Given the description of an element on the screen output the (x, y) to click on. 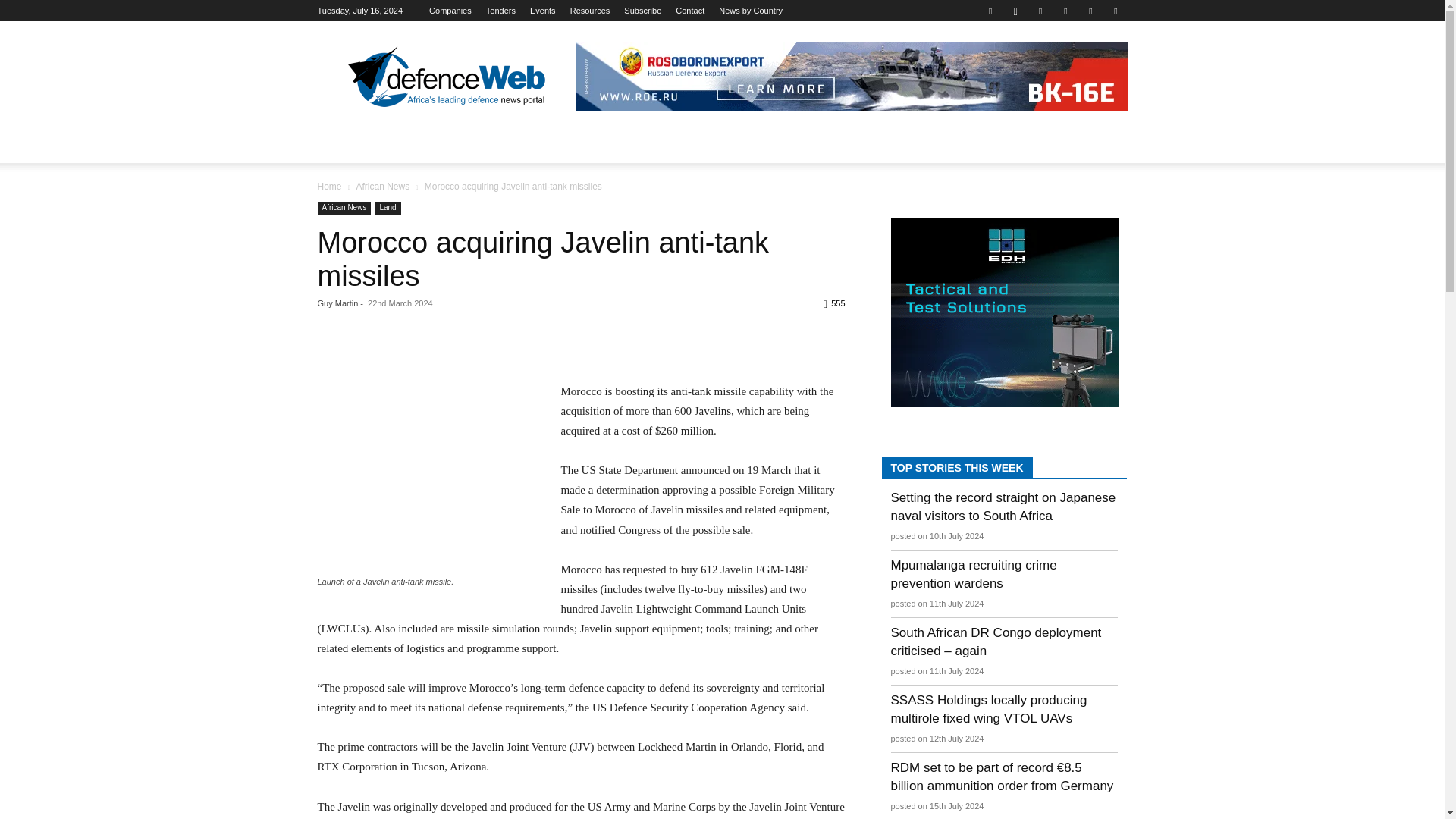
Linkedin (1040, 10)
Mail (1065, 10)
Youtube (1114, 10)
Facebook (989, 10)
Twitter (1090, 10)
Instagram (1015, 10)
